Given the description of an element on the screen output the (x, y) to click on. 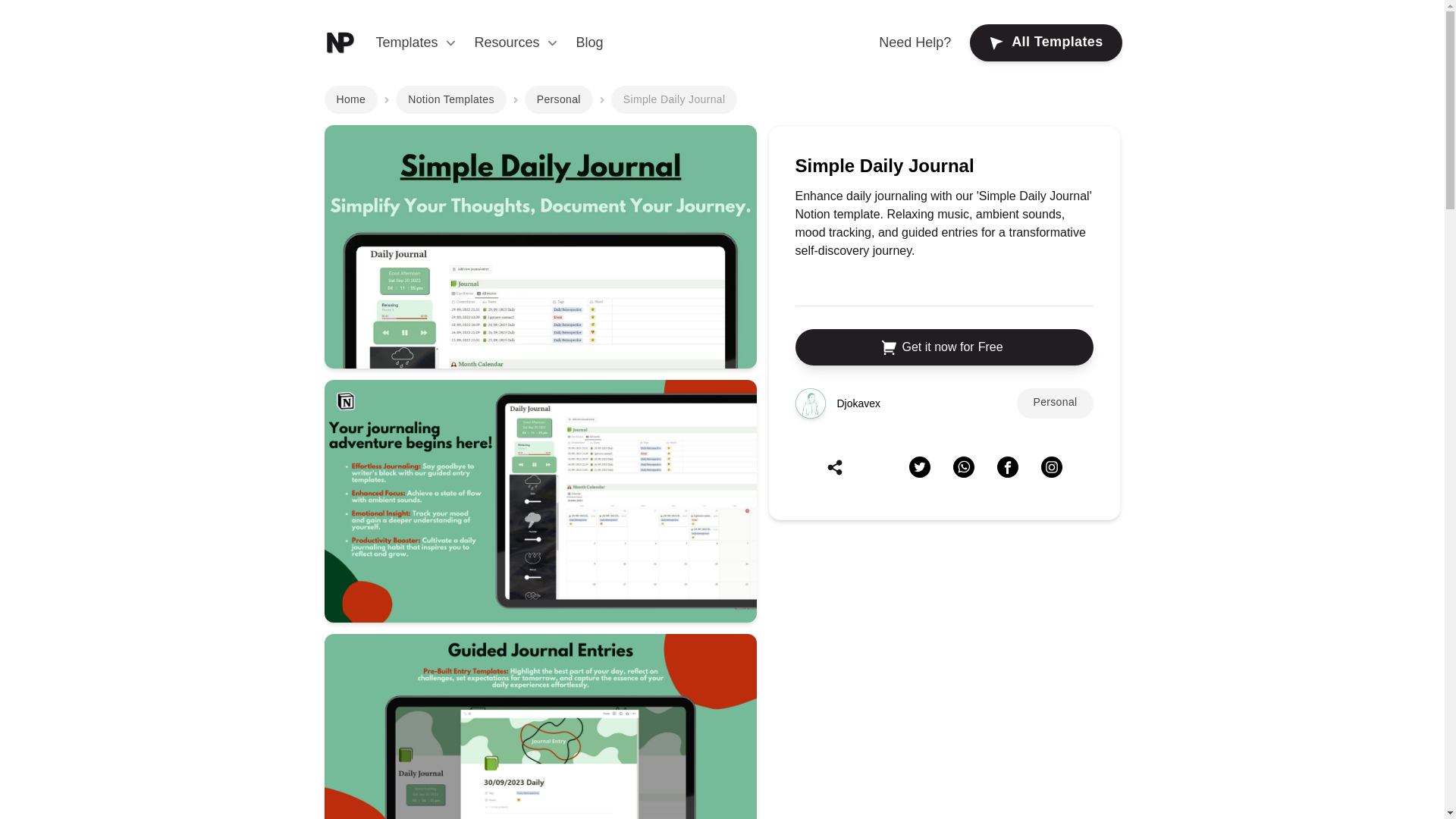
All Templates (1045, 42)
Blog (590, 42)
Need Help? (914, 42)
